Given the description of an element on the screen output the (x, y) to click on. 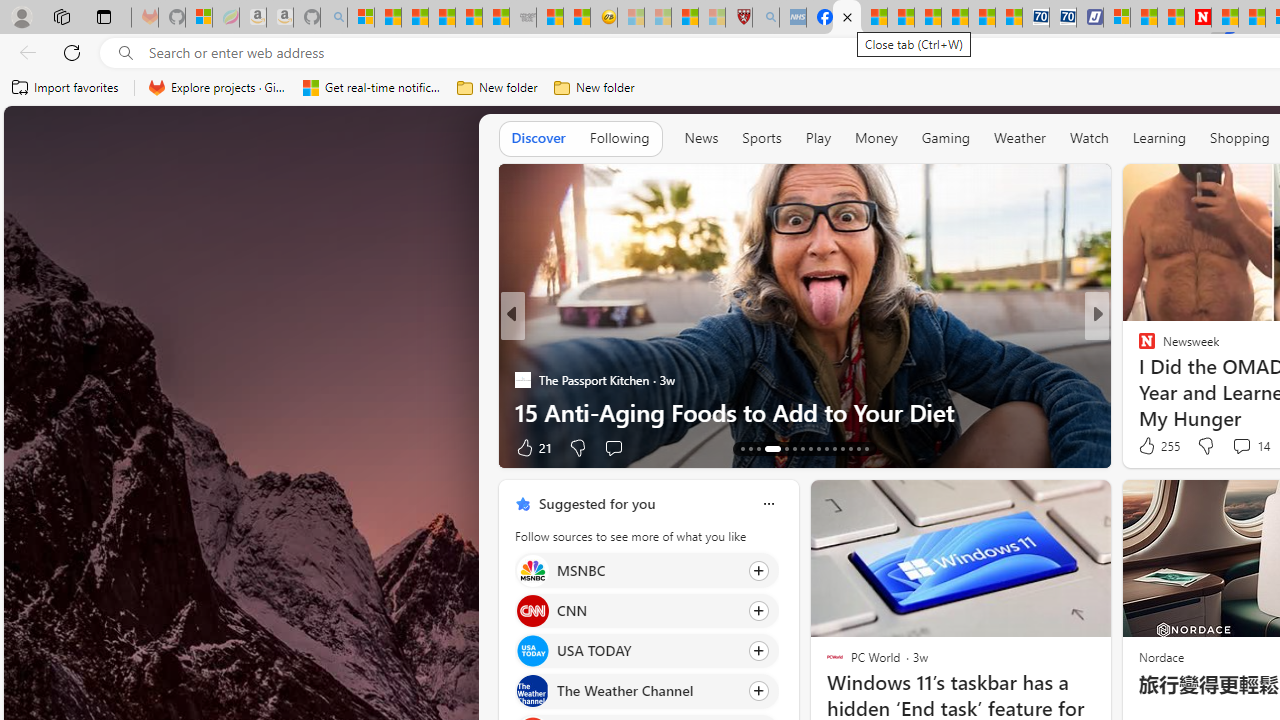
AutomationID: tab-91 (857, 448)
View comments 24 Comment (1244, 447)
AutomationID: tab-68 (757, 448)
AutomationID: tab-75 (825, 448)
AutomationID: tab-73 (810, 448)
AutomationID: tab-74 (818, 448)
Click to follow source USA TODAY (646, 651)
5 Like (1145, 447)
